Given the description of an element on the screen output the (x, y) to click on. 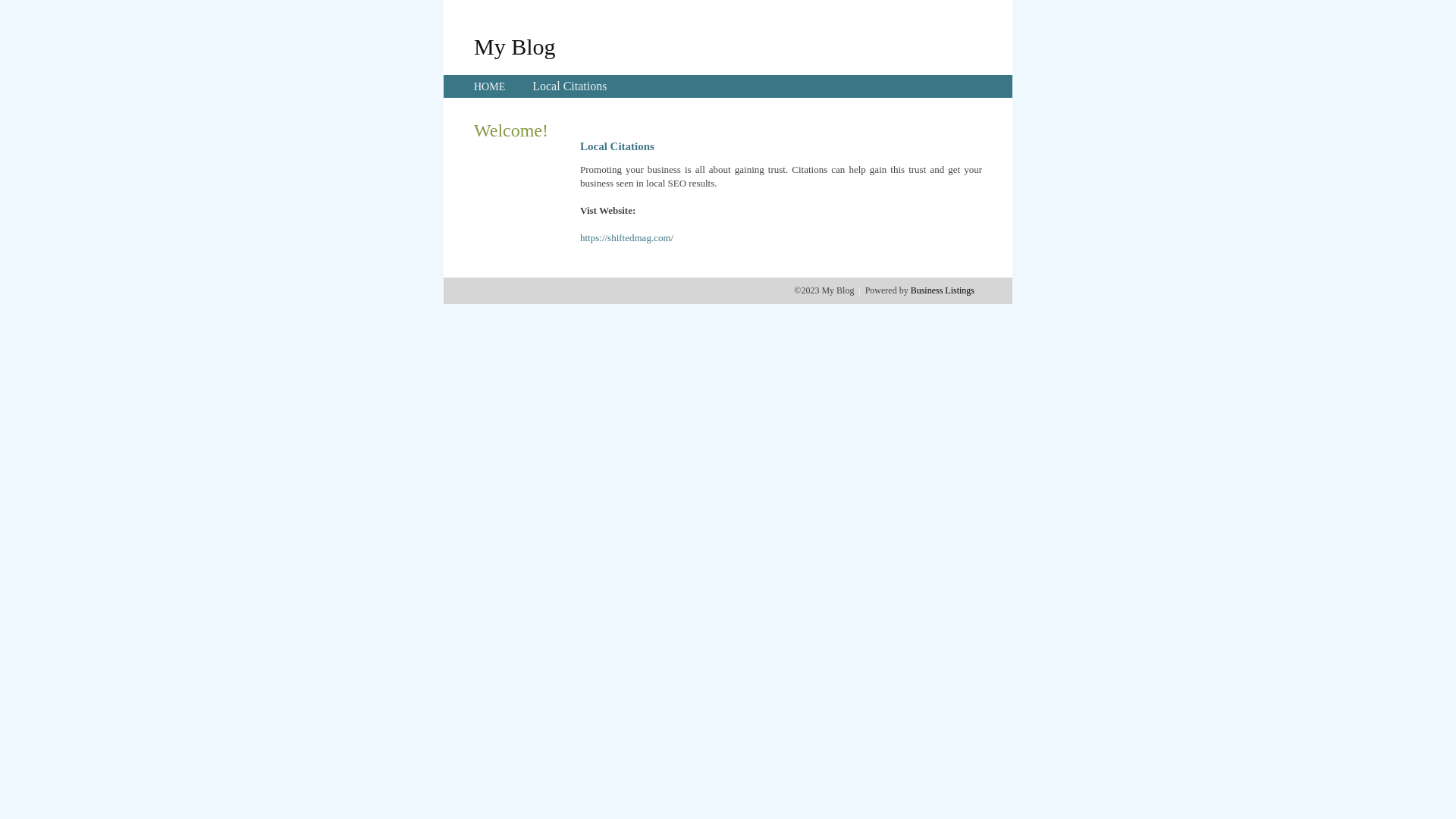
HOME Element type: text (489, 86)
Local Citations Element type: text (569, 85)
Business Listings Element type: text (942, 290)
My Blog Element type: text (514, 46)
https://shiftedmag.com/ Element type: text (626, 237)
